Given the description of an element on the screen output the (x, y) to click on. 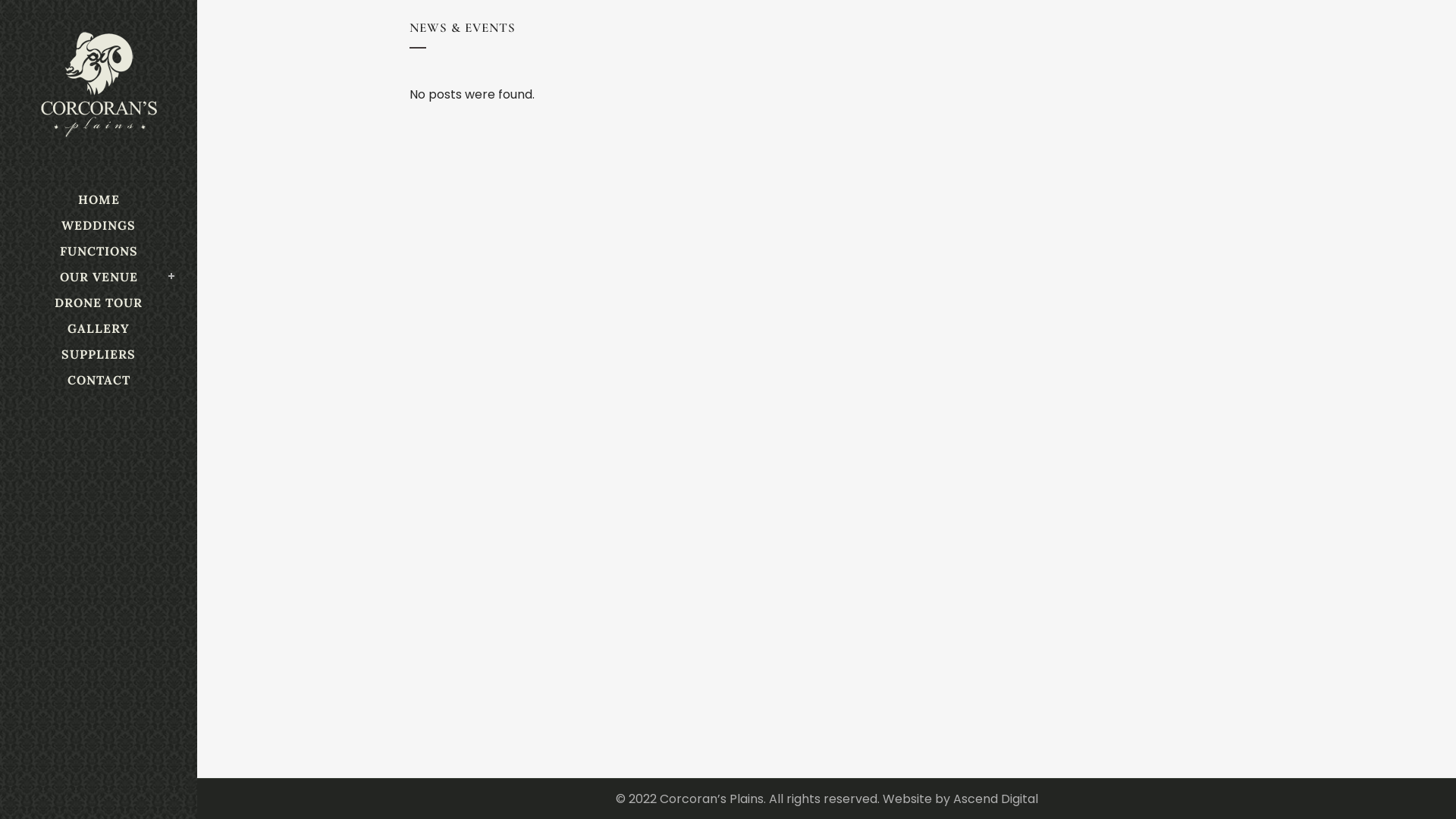
Ascend Digital Element type: text (994, 798)
GALLERY Element type: text (98, 328)
FUNCTIONS Element type: text (98, 250)
CONTACT Element type: text (98, 379)
DRONE TOUR Element type: text (98, 302)
HOME Element type: text (98, 199)
OUR VENUE Element type: text (98, 276)
WEDDINGS Element type: text (98, 225)
SUPPLIERS Element type: text (98, 354)
